Given the description of an element on the screen output the (x, y) to click on. 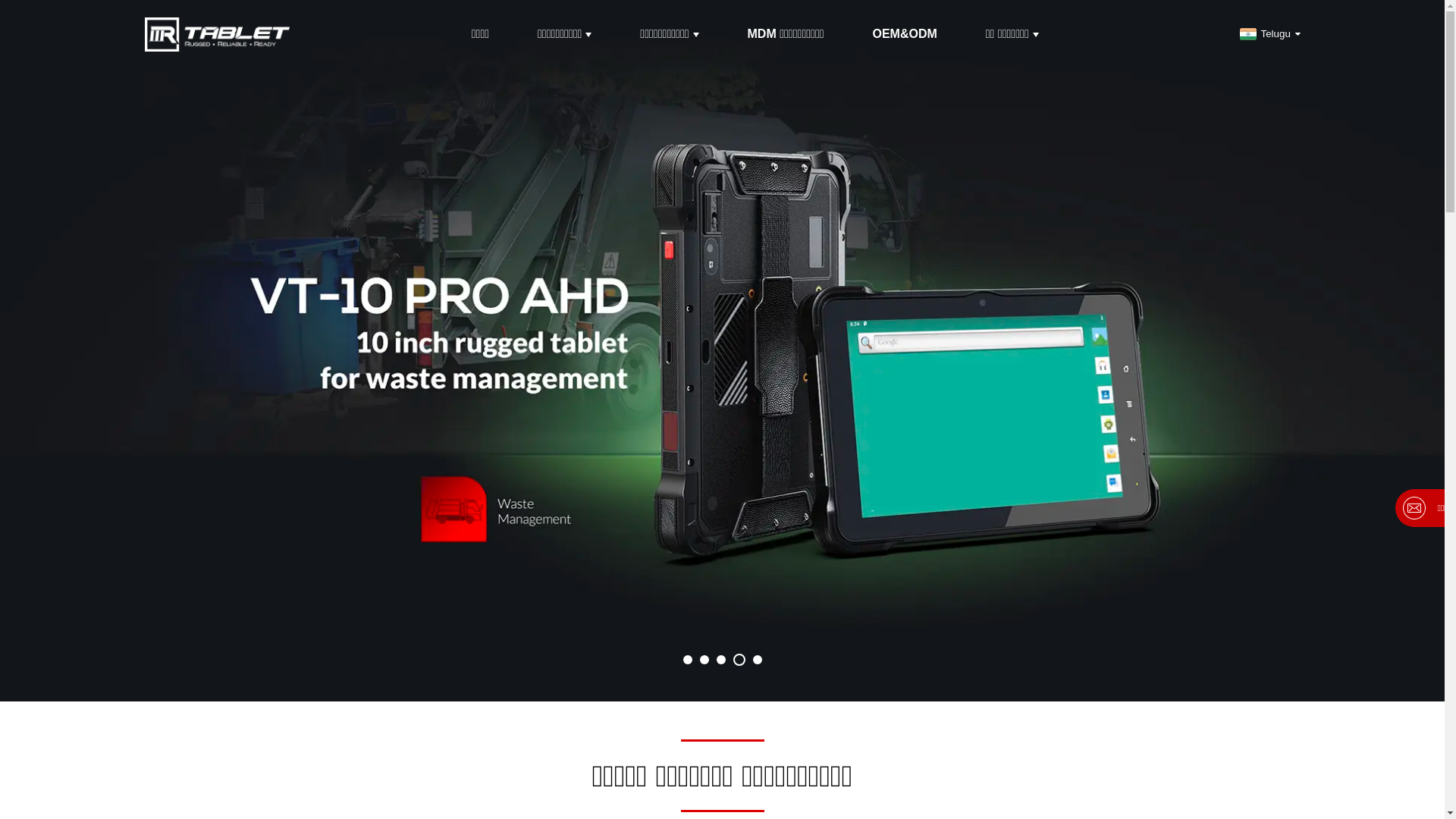
OEM&ODM Element type: text (904, 33)
Telugu Element type: text (1268, 33)
